Given the description of an element on the screen output the (x, y) to click on. 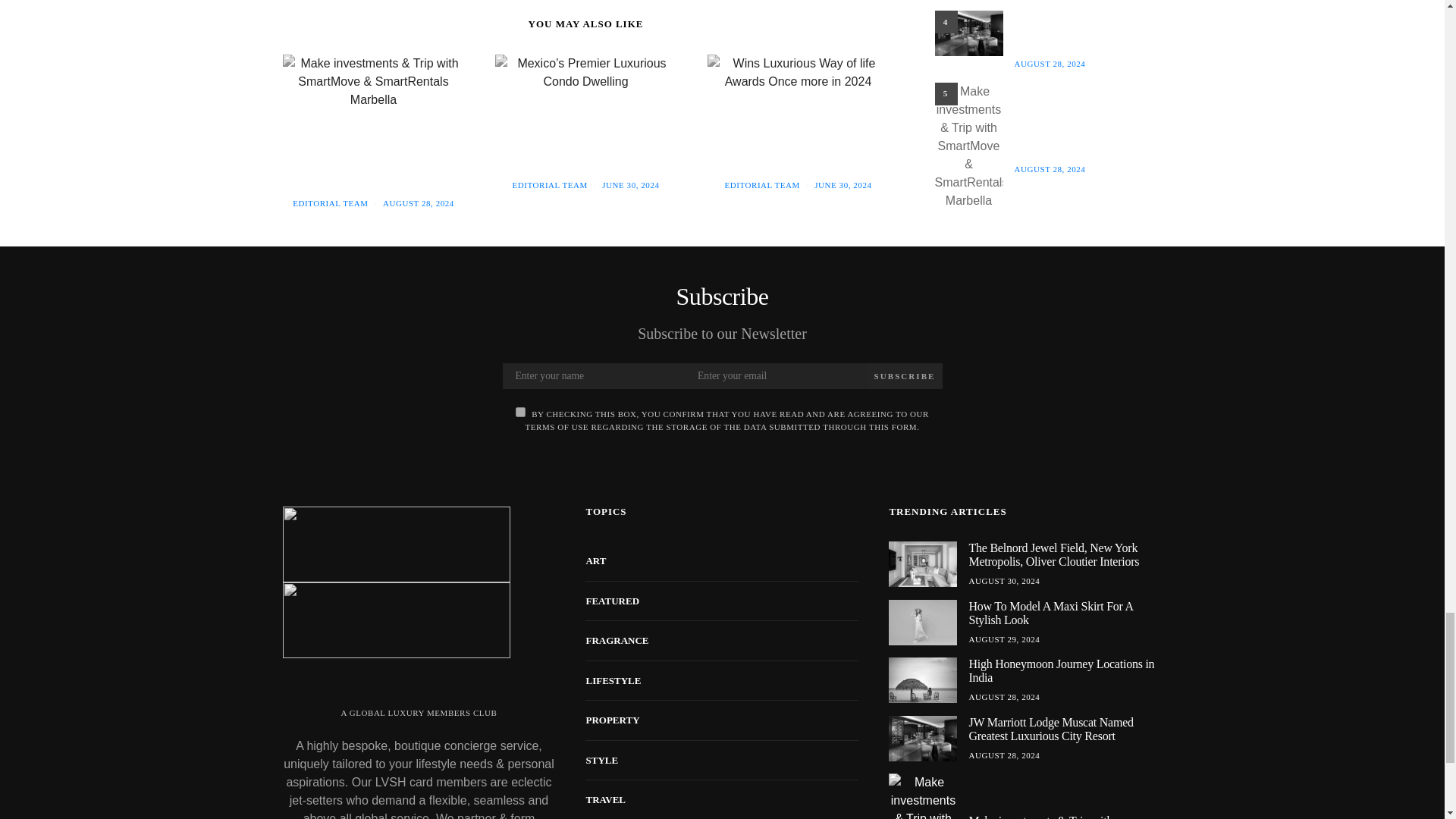
View all posts by Editorial Team (549, 184)
View all posts by Editorial Team (330, 203)
on (520, 411)
